Given the description of an element on the screen output the (x, y) to click on. 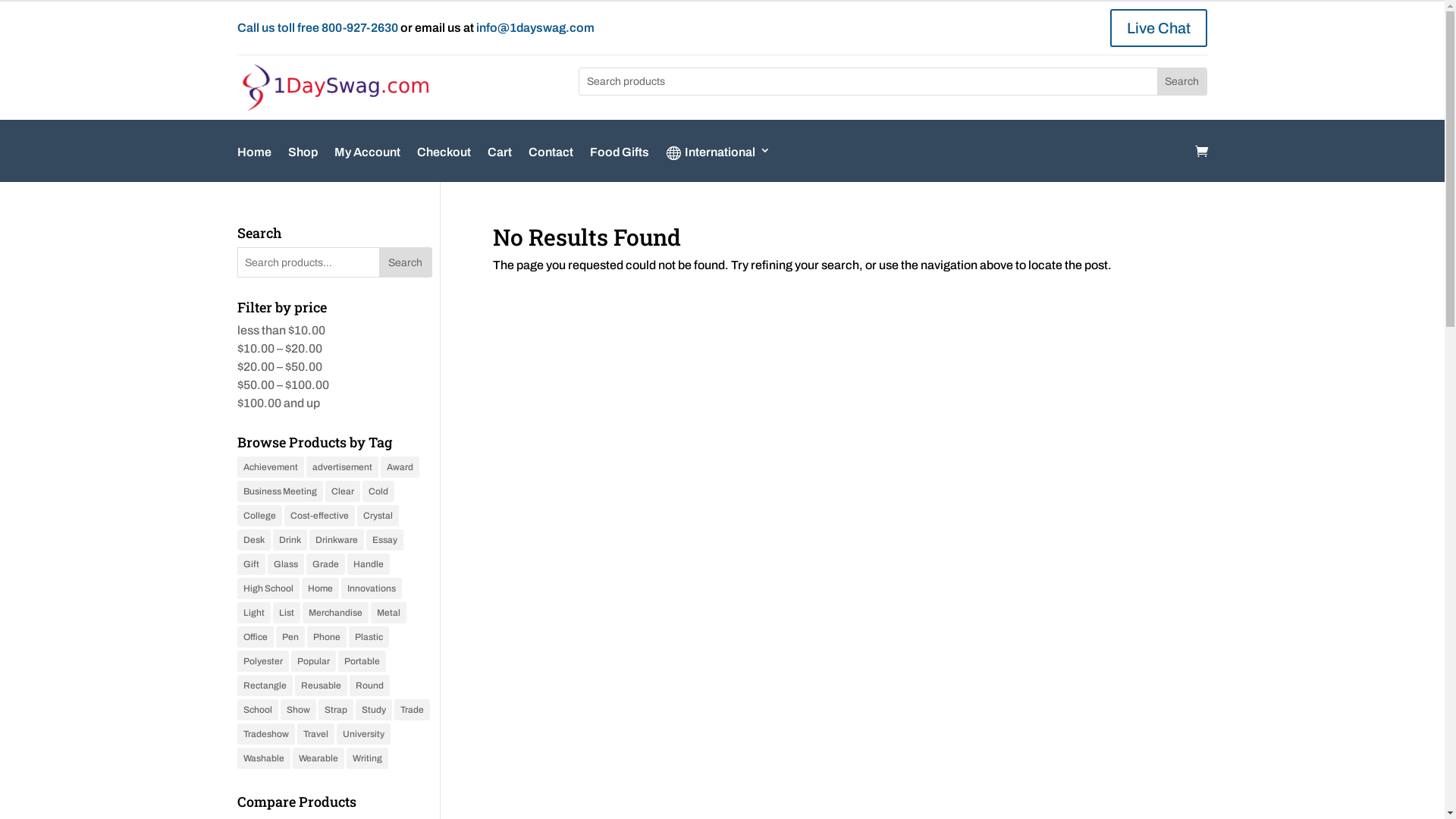
Award Element type: text (399, 466)
Search Element type: text (405, 262)
Contact Element type: text (549, 163)
High School Element type: text (267, 588)
Study Element type: text (372, 709)
Essay Element type: text (383, 539)
List Element type: text (286, 612)
Light Element type: text (252, 612)
Portable Element type: text (361, 660)
Wearable Element type: text (318, 757)
Round Element type: text (368, 685)
Washable Element type: text (262, 757)
Cart Element type: text (498, 163)
Trade Element type: text (411, 709)
Cold Element type: text (378, 491)
Grade Element type: text (325, 563)
Reusable Element type: text (320, 685)
Cost-effective Element type: text (318, 515)
Phone Element type: text (325, 636)
Gift Element type: text (250, 563)
Pen Element type: text (290, 636)
Drink Element type: text (290, 539)
$100.00 and up Element type: text (277, 402)
Tradeshow Element type: text (265, 733)
Writing Element type: text (366, 757)
Show Element type: text (298, 709)
Merchandise Element type: text (334, 612)
Achievement Element type: text (269, 466)
Home Element type: text (319, 588)
info@1dayswag.com Element type: text (535, 27)
advertisement Element type: text (342, 466)
1dayswag Element type: hover (334, 87)
University Element type: text (363, 733)
School Element type: text (256, 709)
Strap Element type: text (335, 709)
My Account Element type: text (366, 163)
College Element type: text (258, 515)
less than $10.00 Element type: text (280, 329)
Search Element type: text (1181, 81)
Polyester Element type: text (262, 660)
Office Element type: text (254, 636)
Food Gifts Element type: text (619, 163)
Rectangle Element type: text (263, 685)
Home Element type: text (253, 163)
Checkout Element type: text (443, 163)
Live Chat Element type: text (1158, 28)
Innovations Element type: text (371, 588)
Drinkware Element type: text (336, 539)
Business Meeting Element type: text (279, 491)
Handle Element type: text (368, 563)
Glass Element type: text (284, 563)
Popular Element type: text (313, 660)
Plastic Element type: text (368, 636)
Metal Element type: text (387, 612)
Crystal Element type: text (377, 515)
Clear Element type: text (341, 491)
Call us toll free 800-927-2630 Element type: text (316, 27)
Travel Element type: text (315, 733)
Desk Element type: text (252, 539)
Shop Element type: text (302, 163)
